Given the description of an element on the screen output the (x, y) to click on. 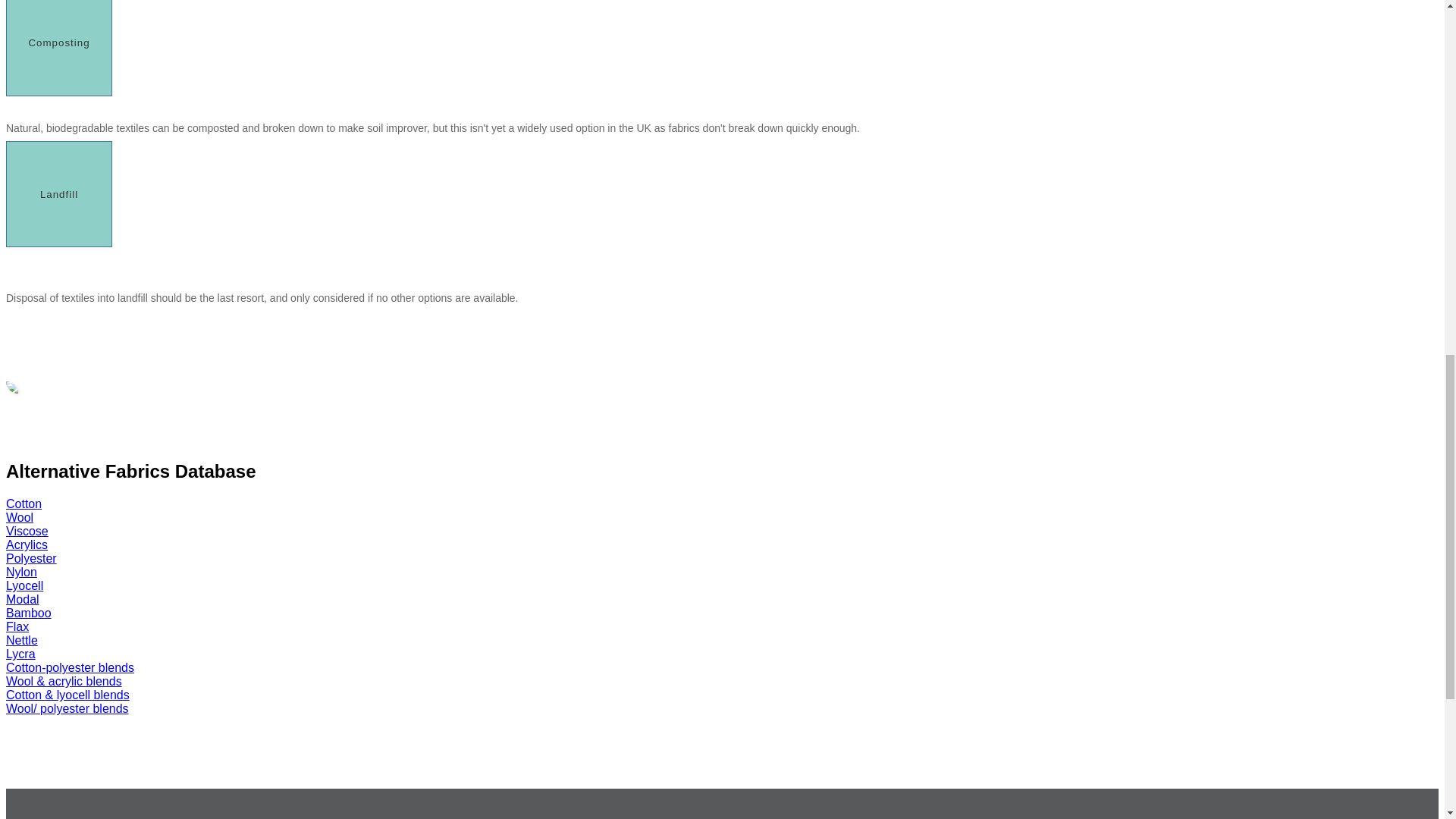
Cotton-polyester blends (69, 667)
Wool (19, 517)
Nylon (21, 571)
Polyester (30, 558)
Cotton (23, 503)
Lycra (19, 653)
Lyocell (24, 585)
Landfill (58, 193)
Acrylics (26, 544)
Nettle (21, 640)
Composting (58, 48)
Bamboo (27, 612)
Viscose (26, 530)
Modal (22, 599)
Flax (17, 626)
